Given the description of an element on the screen output the (x, y) to click on. 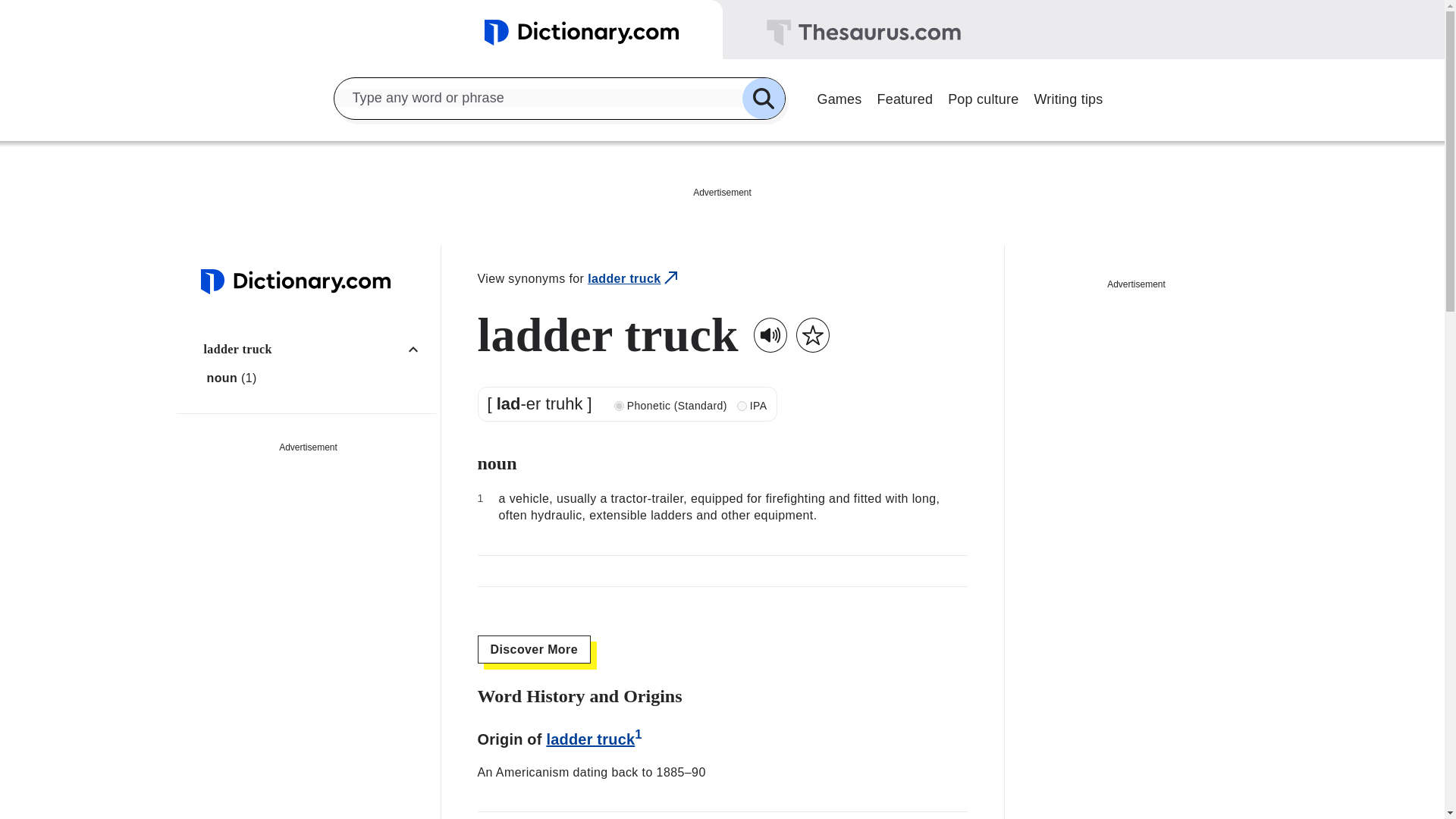
ladder truck1 (594, 739)
Writing tips (1067, 97)
phonetic (619, 406)
Pop culture (983, 97)
ipa (741, 406)
ladder truck (633, 279)
ladder truck (316, 349)
Featured (904, 97)
Games (839, 97)
